Given the description of an element on the screen output the (x, y) to click on. 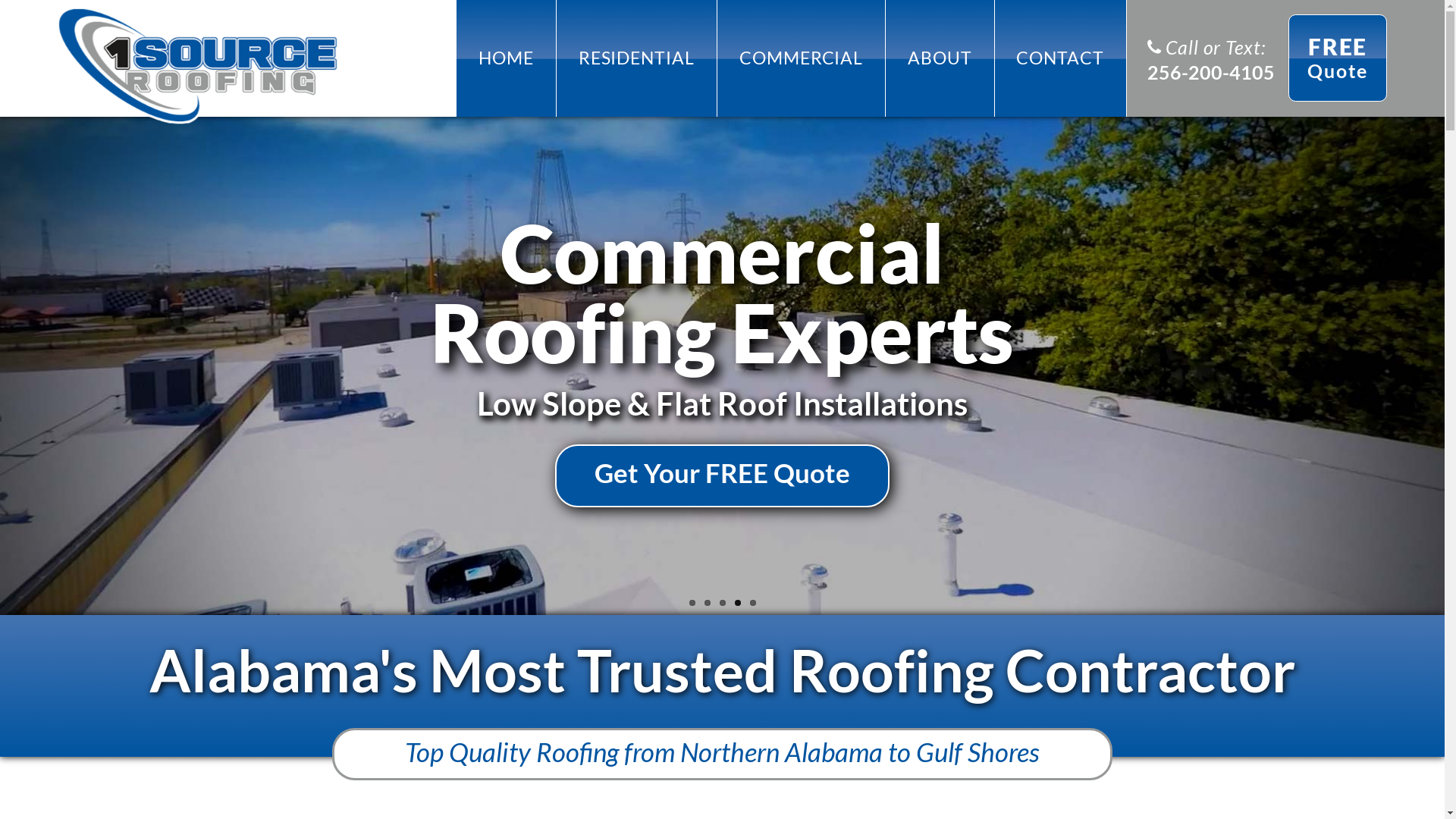
ABOUT Element type: text (939, 58)
2 Element type: text (706, 602)
HOME Element type: text (505, 58)
FREE Quote Element type: text (1337, 57)
1 Element type: text (691, 602)
5 Element type: text (752, 602)
Click To Learn More Element type: text (722, 472)
3 Element type: text (721, 602)
COMMERCIAL Element type: text (800, 58)
CONTACT Element type: text (1060, 58)
4 Element type: text (737, 602)
RESIDENTIAL Element type: text (636, 58)
